Given the description of an element on the screen output the (x, y) to click on. 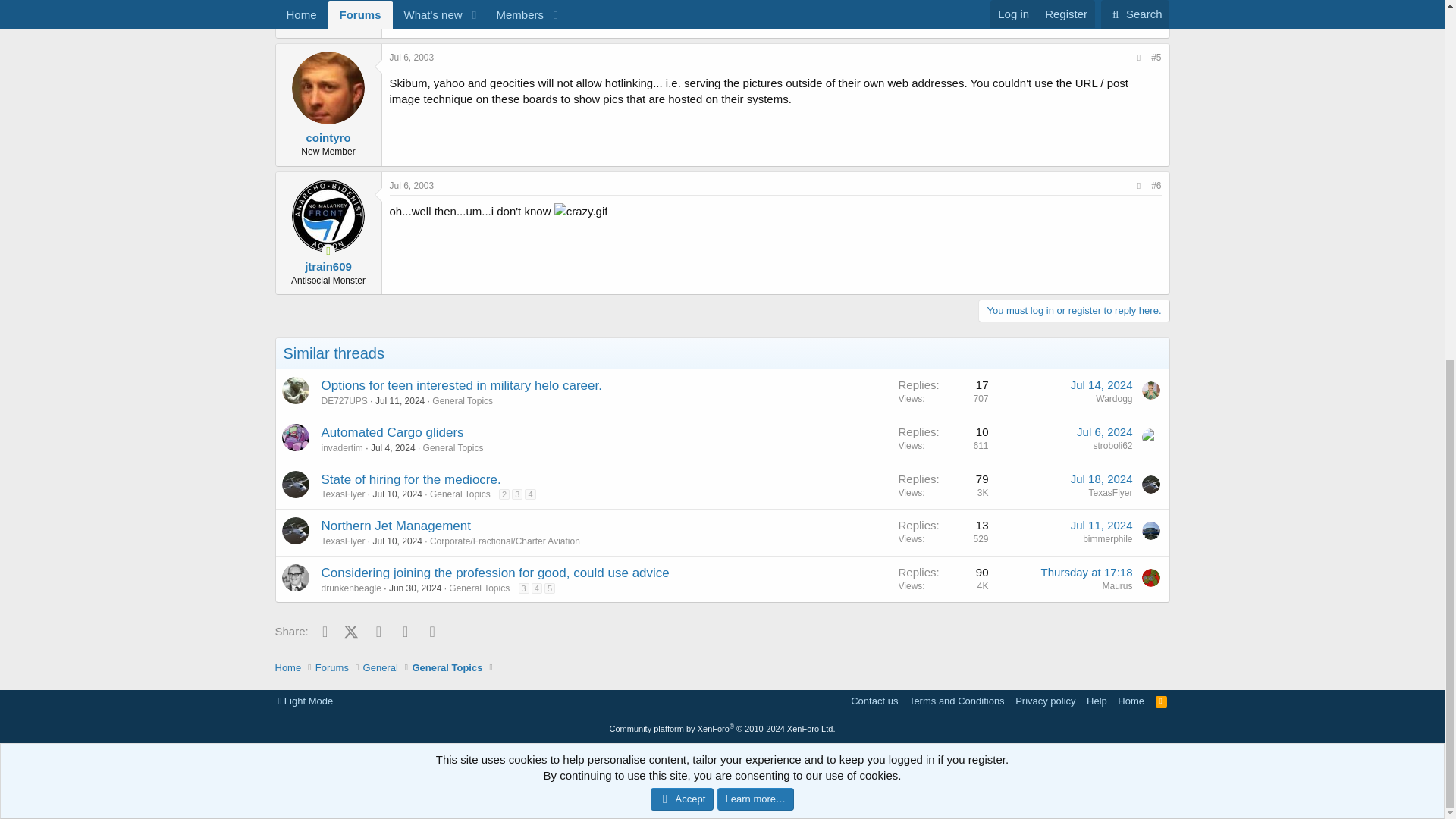
Jul 11, 2024 at 20:13 (400, 400)
crazy.gif (581, 211)
First message reaction score: 2 (942, 439)
Jul 6, 2003 at 08:46 (411, 57)
Jul 6, 2003 at 12:31 (411, 185)
Jul 14, 2024 at 15:12 (1101, 384)
Jul 4, 2024 at 19:33 (392, 448)
First message reaction score: 0 (942, 392)
Online now (328, 249)
